Given the description of an element on the screen output the (x, y) to click on. 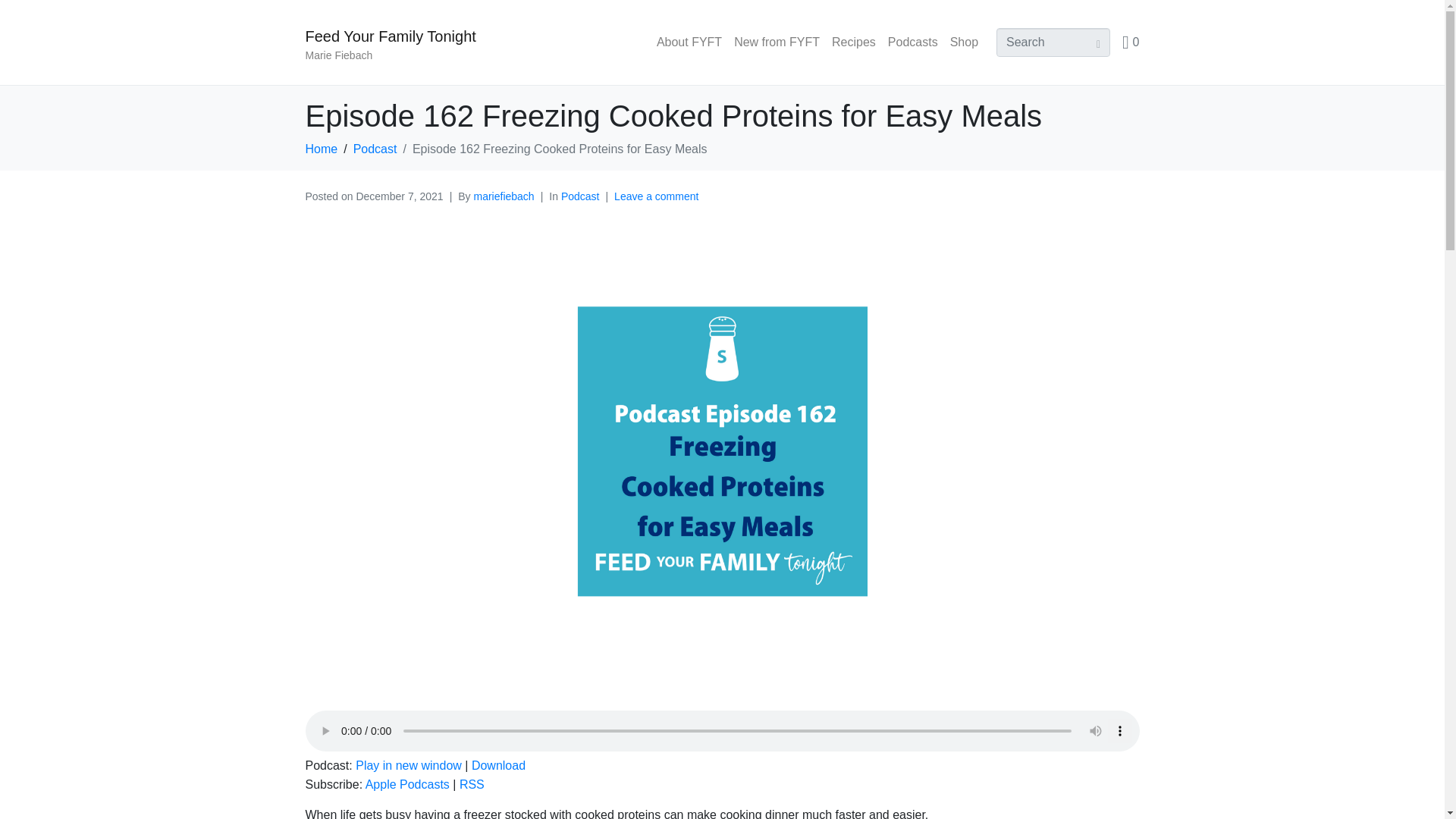
Home (320, 148)
RSS (472, 784)
Podcast (579, 196)
mariefiebach (503, 196)
Play in new window (408, 765)
Feed Your Family Tonight (390, 36)
Play in new window (408, 765)
Download (498, 765)
About FYFT (689, 42)
Podcasts (912, 42)
